Given the description of an element on the screen output the (x, y) to click on. 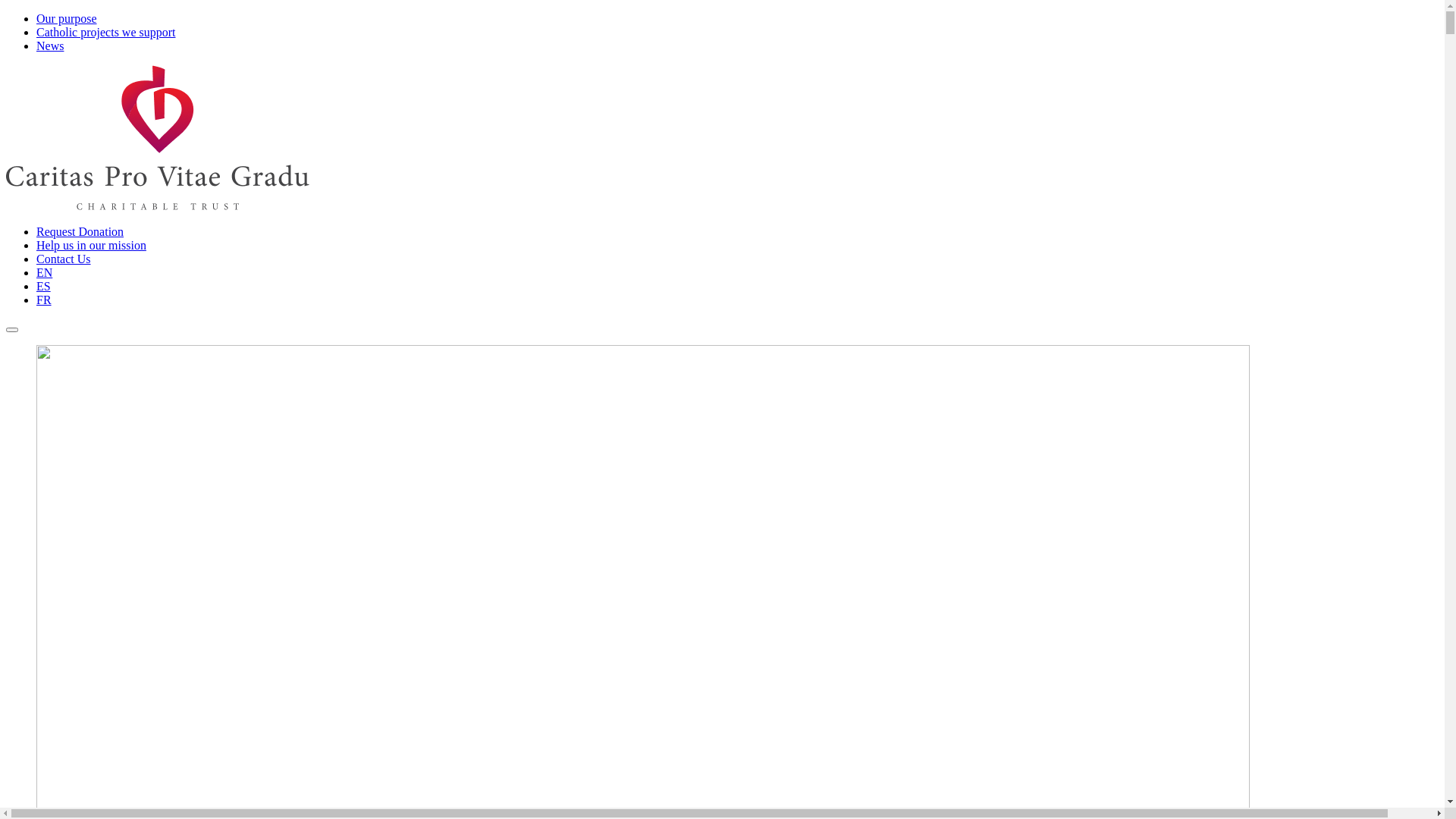
Help us in our mission Element type: text (91, 244)
Catholic projects we support Element type: text (105, 31)
Our purpose Element type: text (66, 18)
Request Donation Element type: text (79, 231)
FR Element type: text (43, 299)
EN Element type: text (44, 272)
ES Element type: text (43, 285)
Contact Us Element type: text (63, 258)
News Element type: text (49, 45)
